Given the description of an element on the screen output the (x, y) to click on. 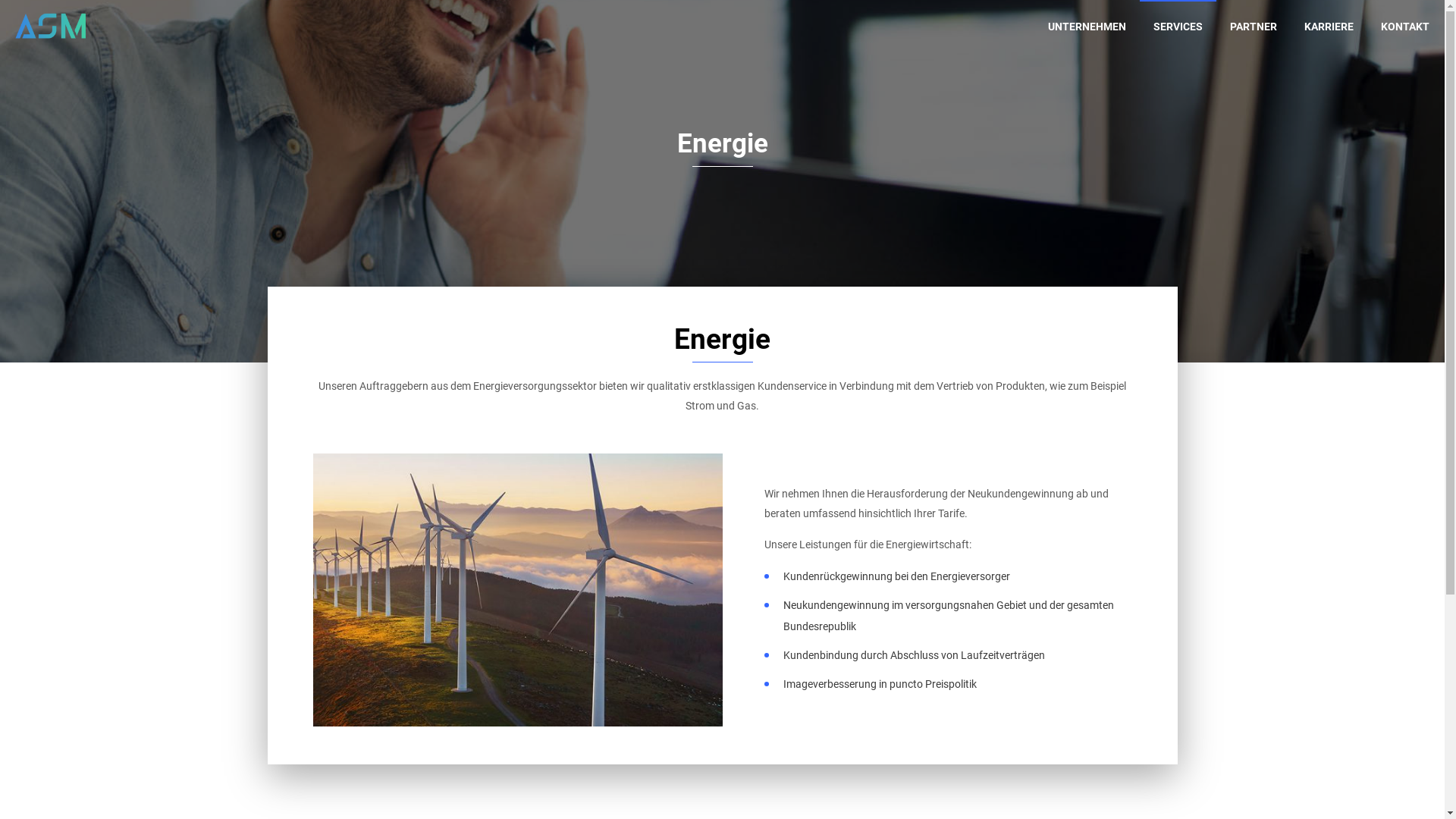
KONTAKT Element type: text (1404, 26)
SERVICES Element type: text (1177, 26)
KARRIERE Element type: text (1328, 26)
Site logo Element type: hover (50, 26)
PARTNER Element type: text (1253, 26)
UNTERNEHMEN Element type: text (1087, 26)
